Given the description of an element on the screen output the (x, y) to click on. 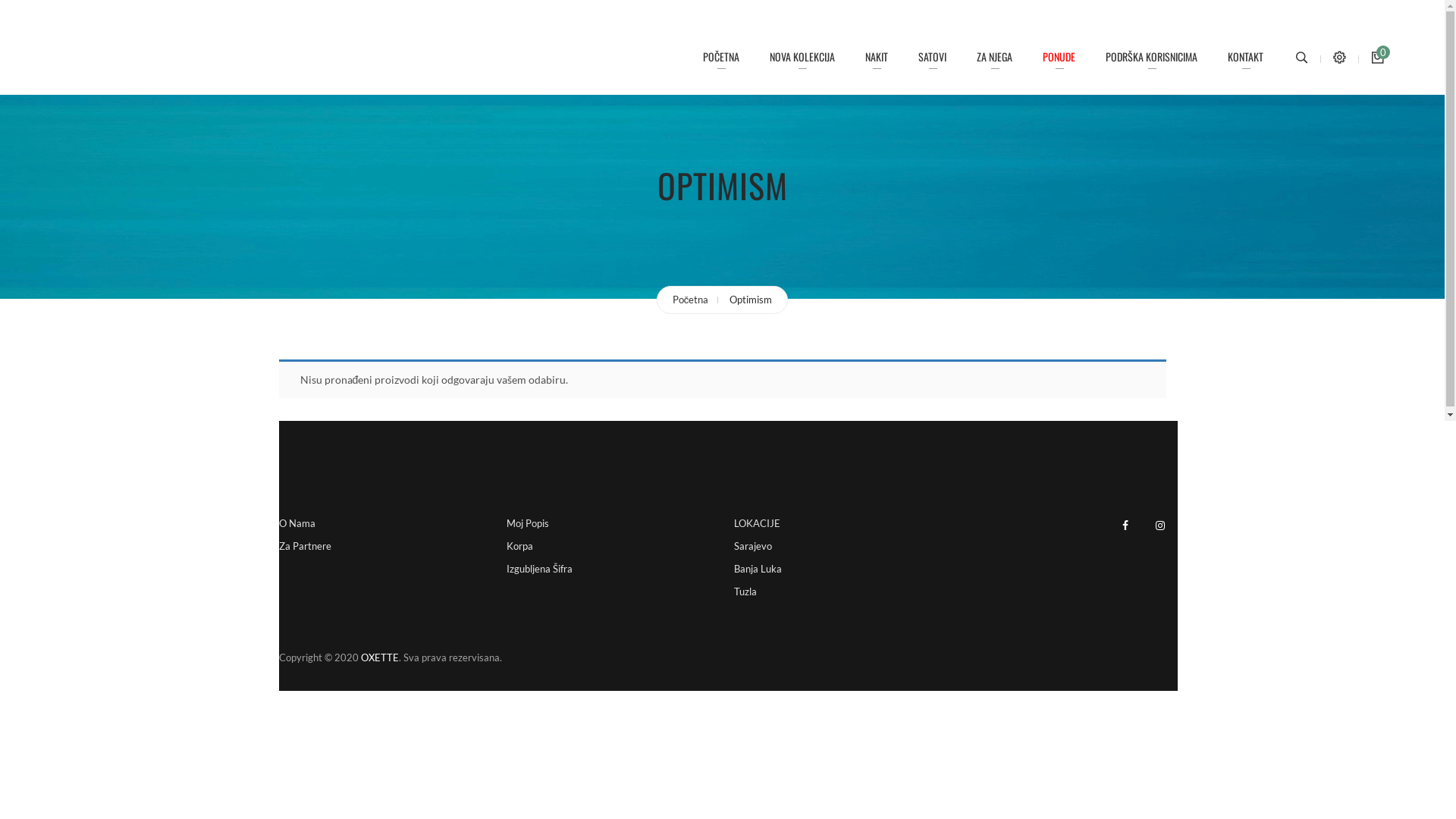
Moj Popis Element type: text (527, 523)
LOKACIJE Element type: text (757, 526)
Sarajevo Element type: text (752, 545)
Za Partnere Element type: text (305, 545)
OXETTE Element type: text (379, 657)
0 Element type: text (1372, 58)
NAKIT Element type: text (876, 56)
PONUDE Element type: text (1058, 56)
O Nama Element type: text (297, 523)
Korpa Element type: text (519, 545)
Facebook Element type: hover (1124, 524)
ZA NJEGA Element type: text (994, 56)
Banja Luka Element type: text (757, 568)
KONTAKT Element type: text (1245, 56)
SATOVI Element type: text (932, 56)
NOVA KOLEKCIJA Element type: text (801, 56)
Instagram Element type: hover (1159, 524)
Tuzla Element type: text (745, 591)
